Given the description of an element on the screen output the (x, y) to click on. 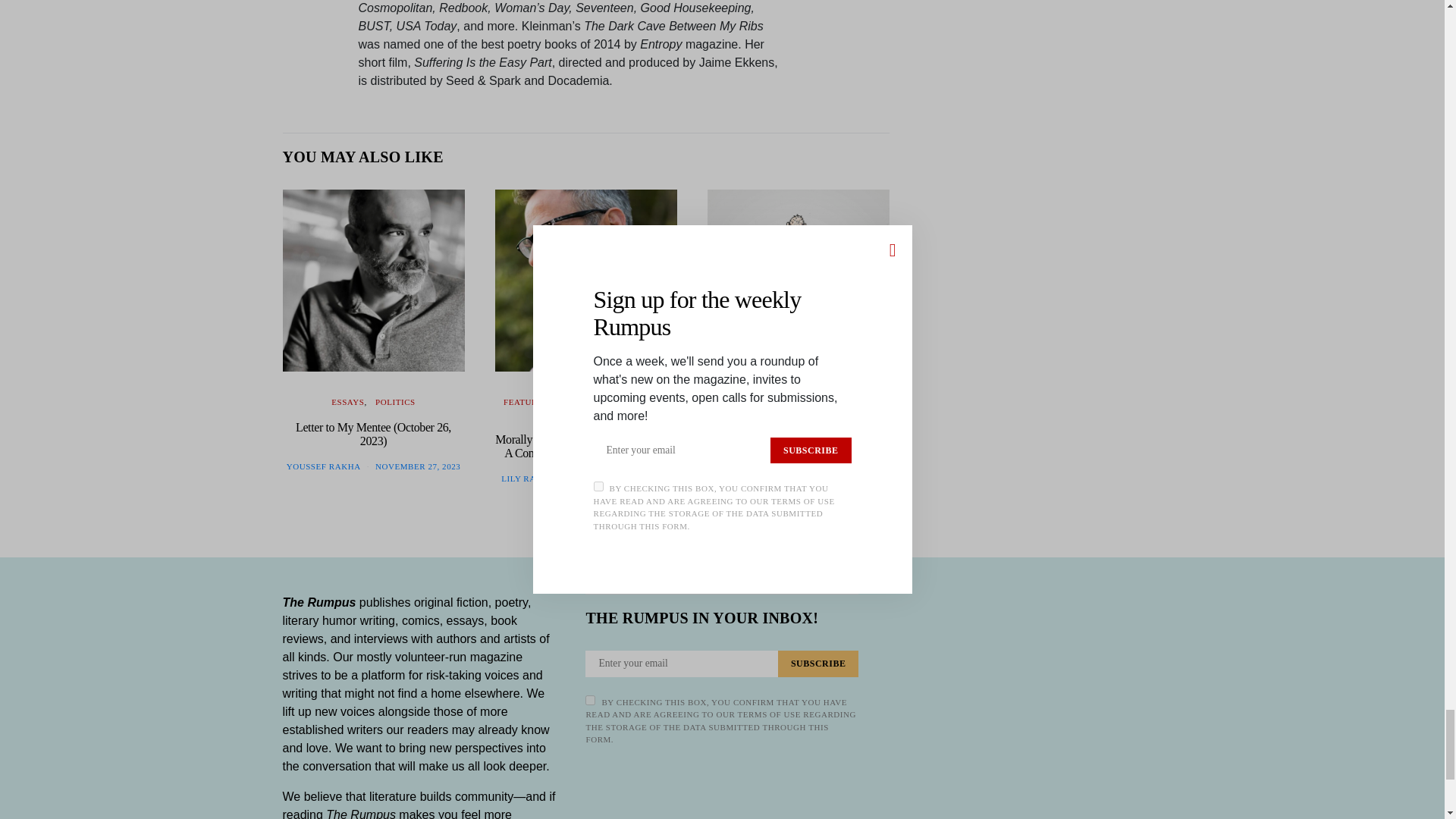
on (590, 700)
View all posts by Youssef Rakha (323, 465)
View all posts by Lily Raff McCaulou (549, 478)
View all posts by Kate Brody (763, 465)
